Given the description of an element on the screen output the (x, y) to click on. 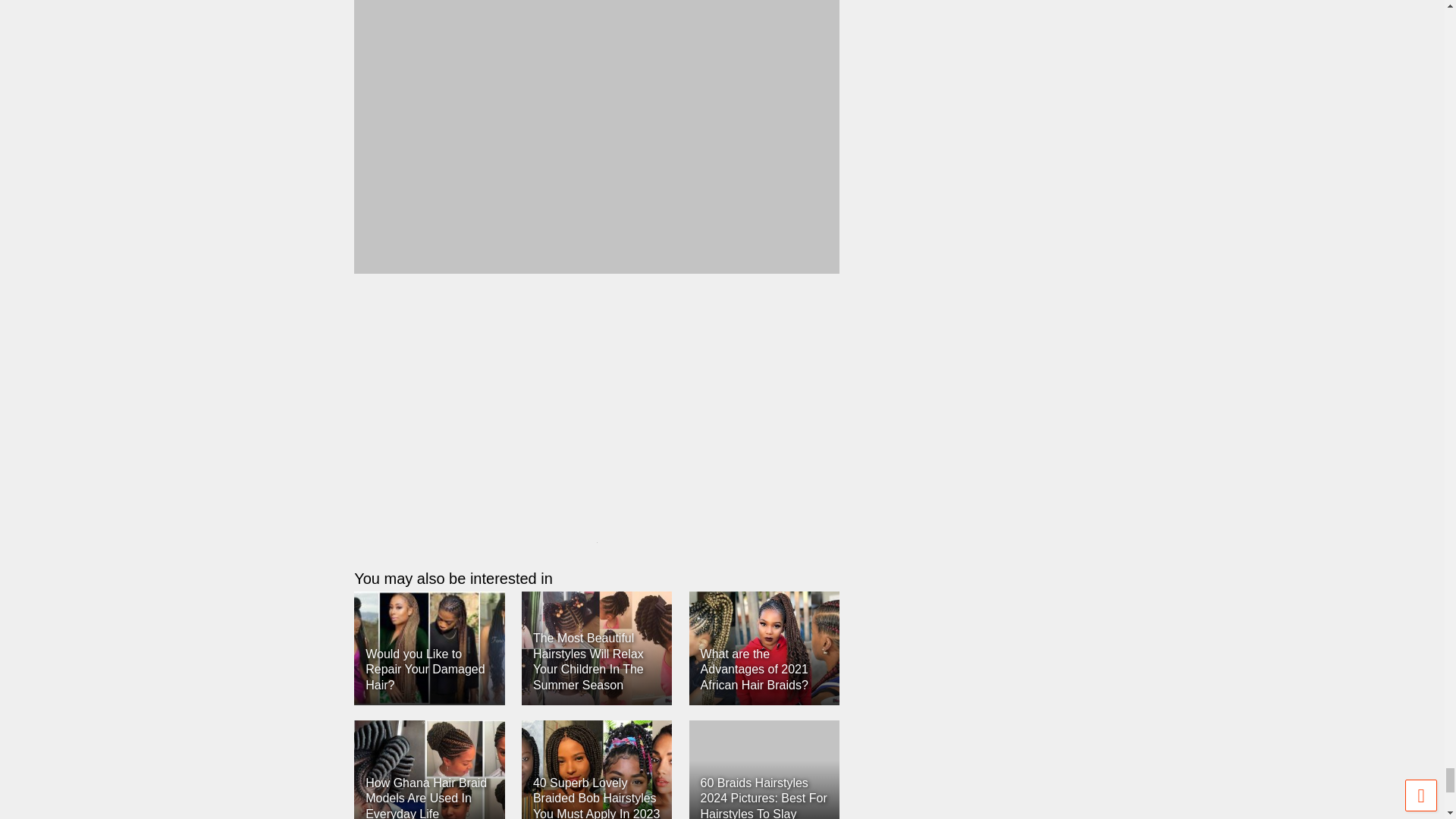
Would you Like to Repair Your Damaged Hair? (429, 648)
Would you Like to Repair Your Damaged Hair? (424, 669)
